Given the description of an element on the screen output the (x, y) to click on. 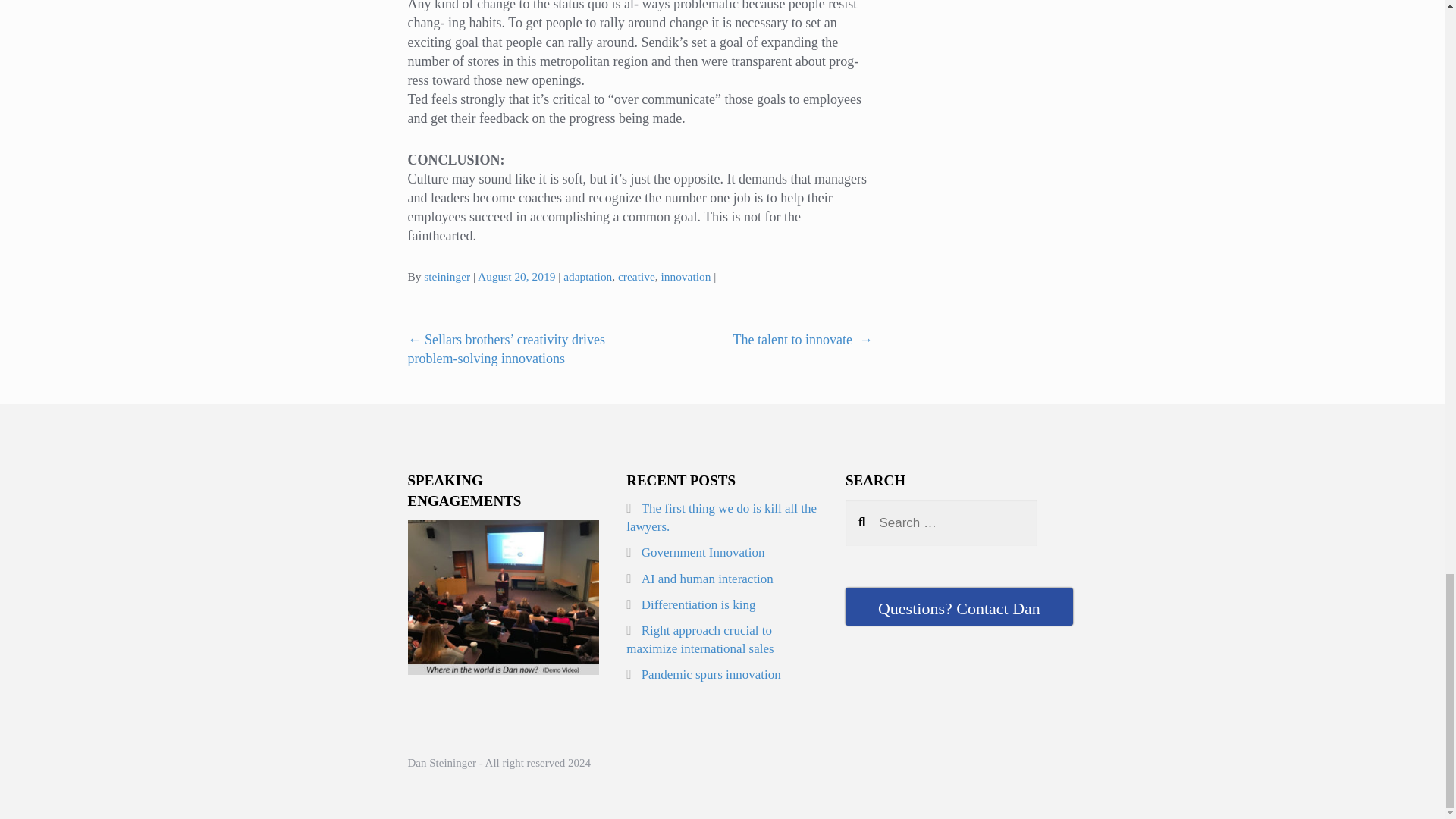
The first thing we do is kill all the lawyers. (721, 517)
steininger (446, 276)
Search (879, 518)
adaptation (587, 276)
Search (879, 518)
CONTACT DAN (959, 606)
Government Innovation (703, 552)
August 20, 2019 (515, 276)
creative (636, 276)
innovation (685, 276)
